Given the description of an element on the screen output the (x, y) to click on. 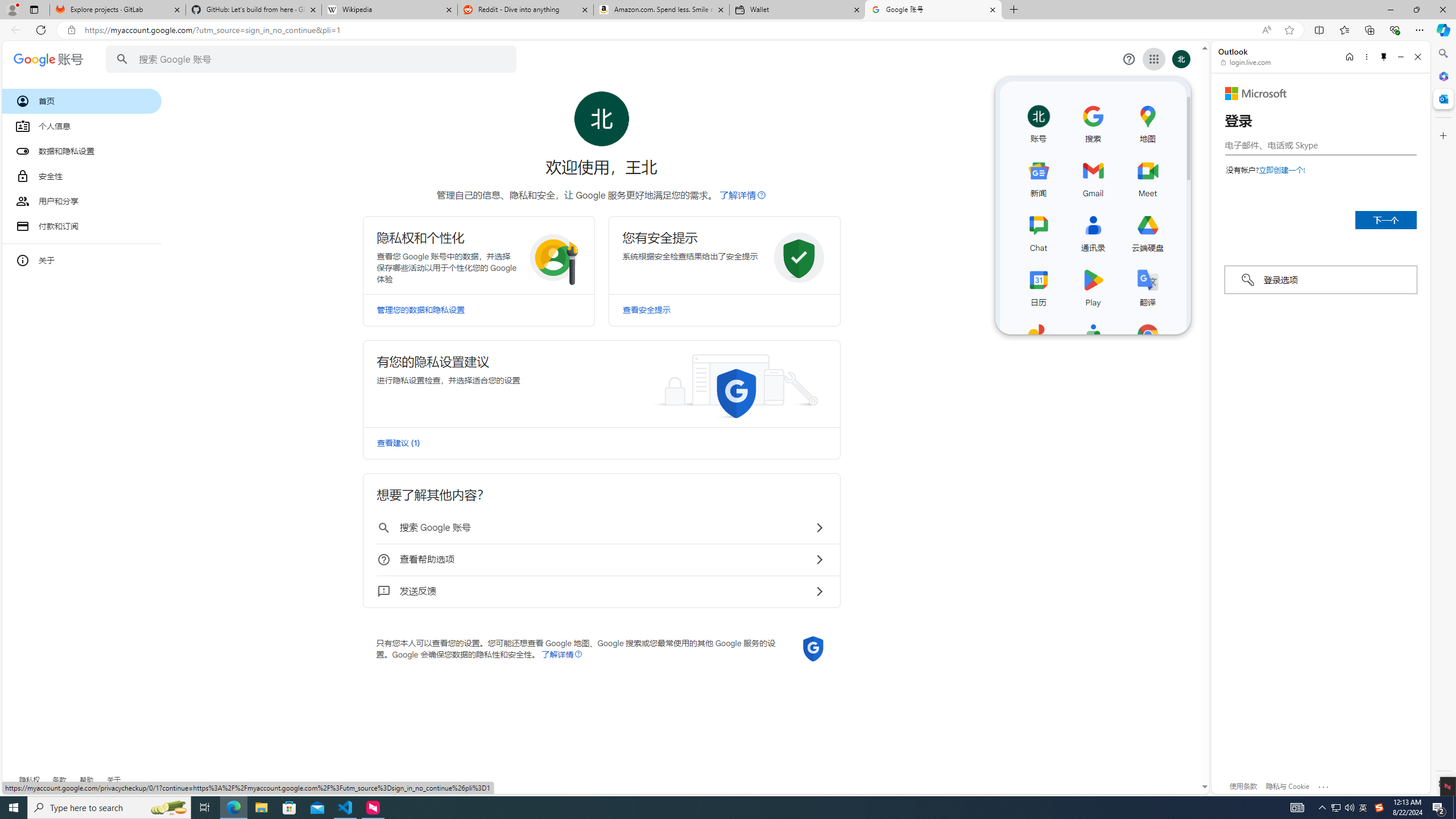
Meet (1147, 176)
Unpin side pane (1383, 56)
